Given the description of an element on the screen output the (x, y) to click on. 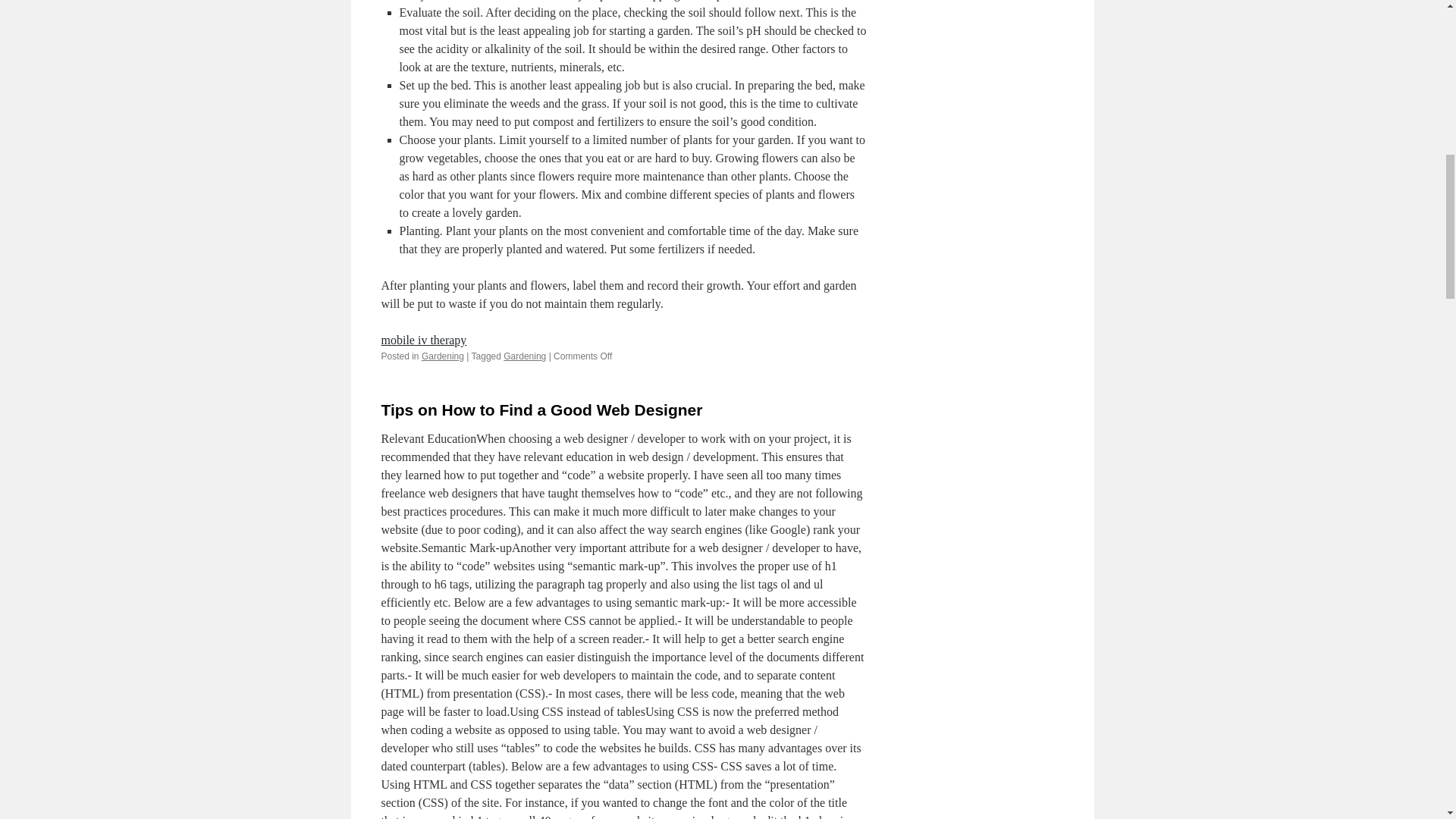
Gardening (524, 356)
Tips on How to Find a Good Web Designer (540, 409)
mobile iv therapy (422, 339)
Gardening (443, 356)
View all posts in Gardening (443, 356)
